Given the description of an element on the screen output the (x, y) to click on. 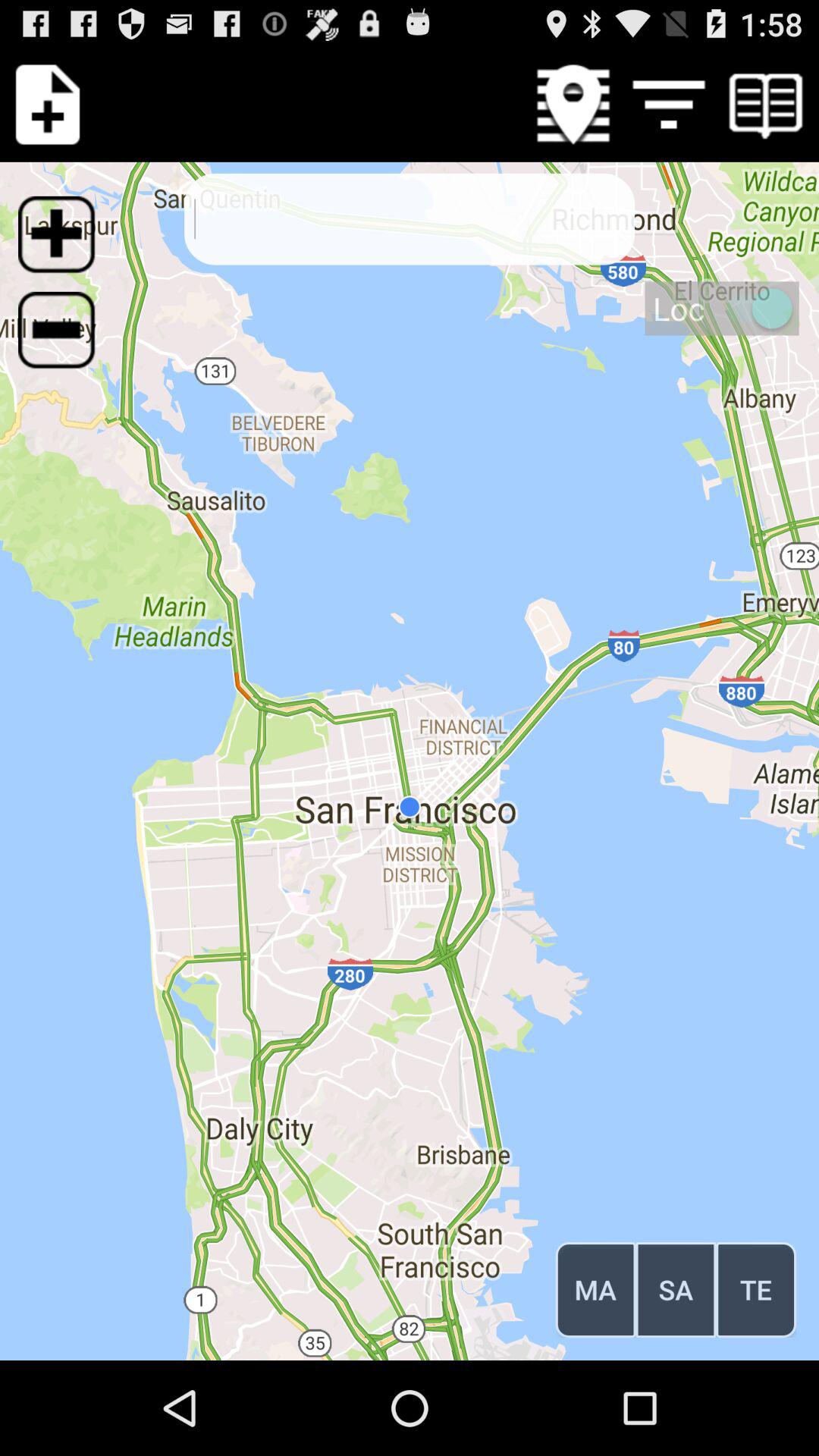
swipe to te (756, 1289)
